Given the description of an element on the screen output the (x, y) to click on. 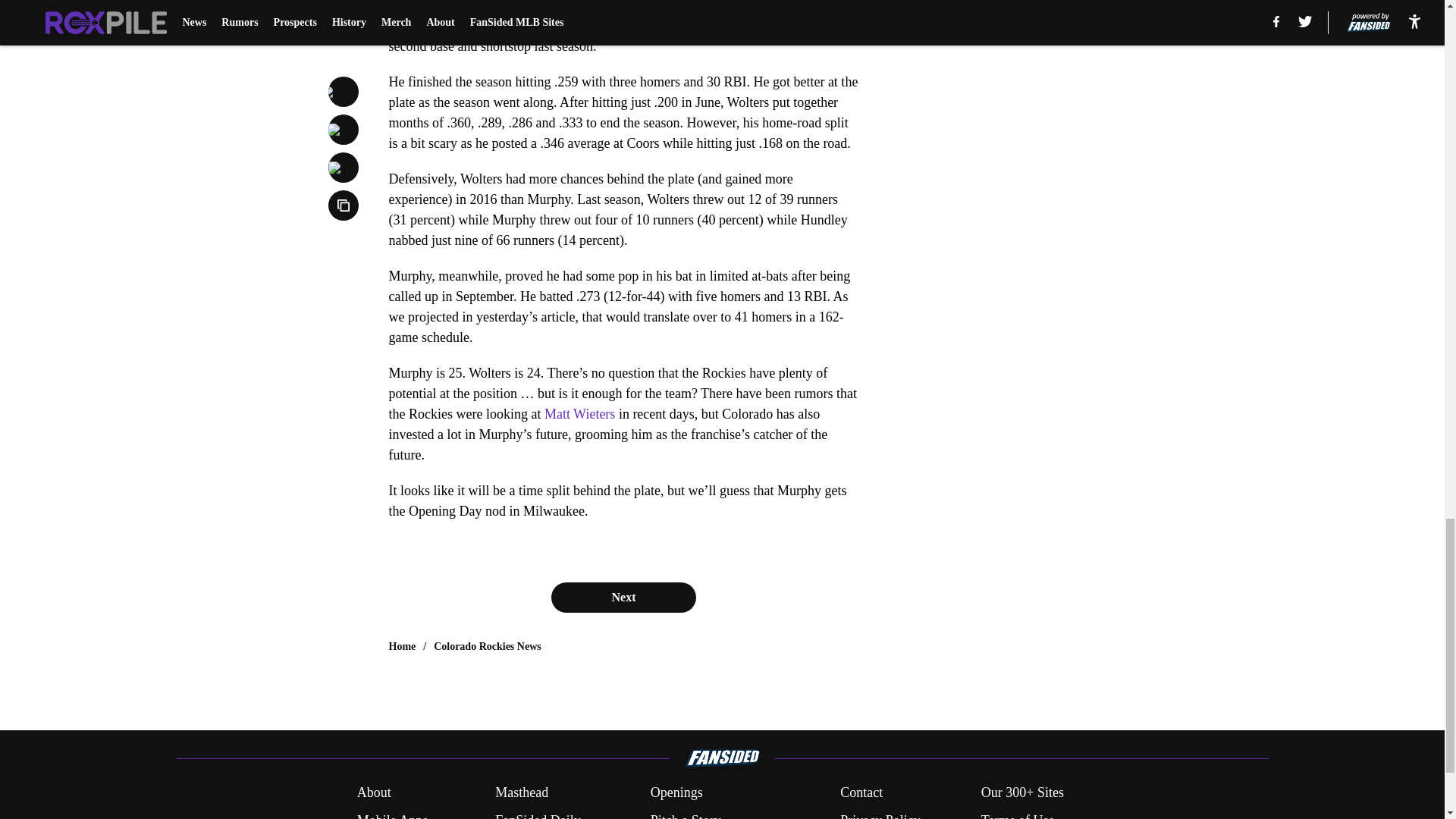
Matt Wieters (579, 413)
Openings (676, 792)
Contact (861, 792)
Pitch a Story (685, 814)
Privacy Policy (880, 814)
Masthead (521, 792)
About (373, 792)
Terms of Use (1017, 814)
FanSided Daily (537, 814)
Colorado Rockies News (487, 646)
Mobile Apps (392, 814)
Next (622, 597)
Home (401, 646)
